Given the description of an element on the screen output the (x, y) to click on. 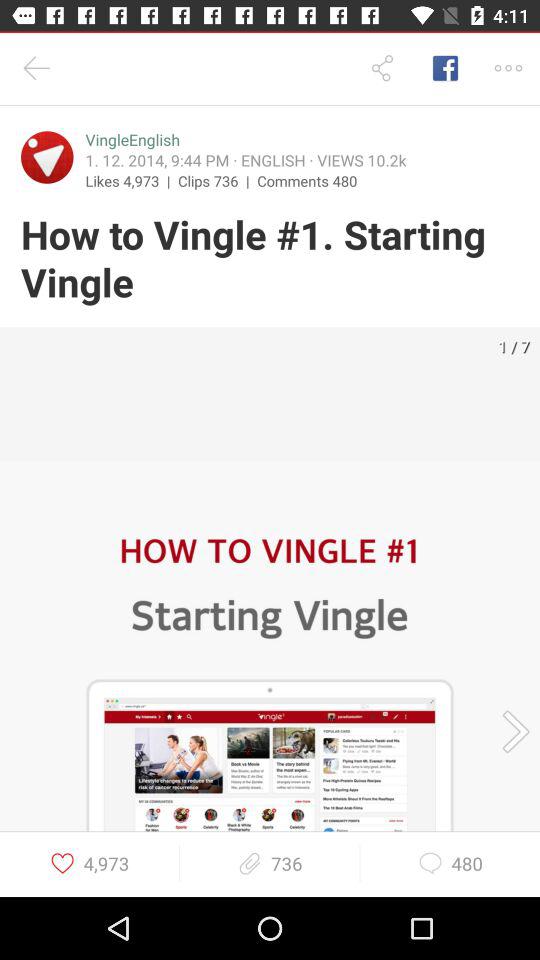
jump to clips 736  | (217, 180)
